Given the description of an element on the screen output the (x, y) to click on. 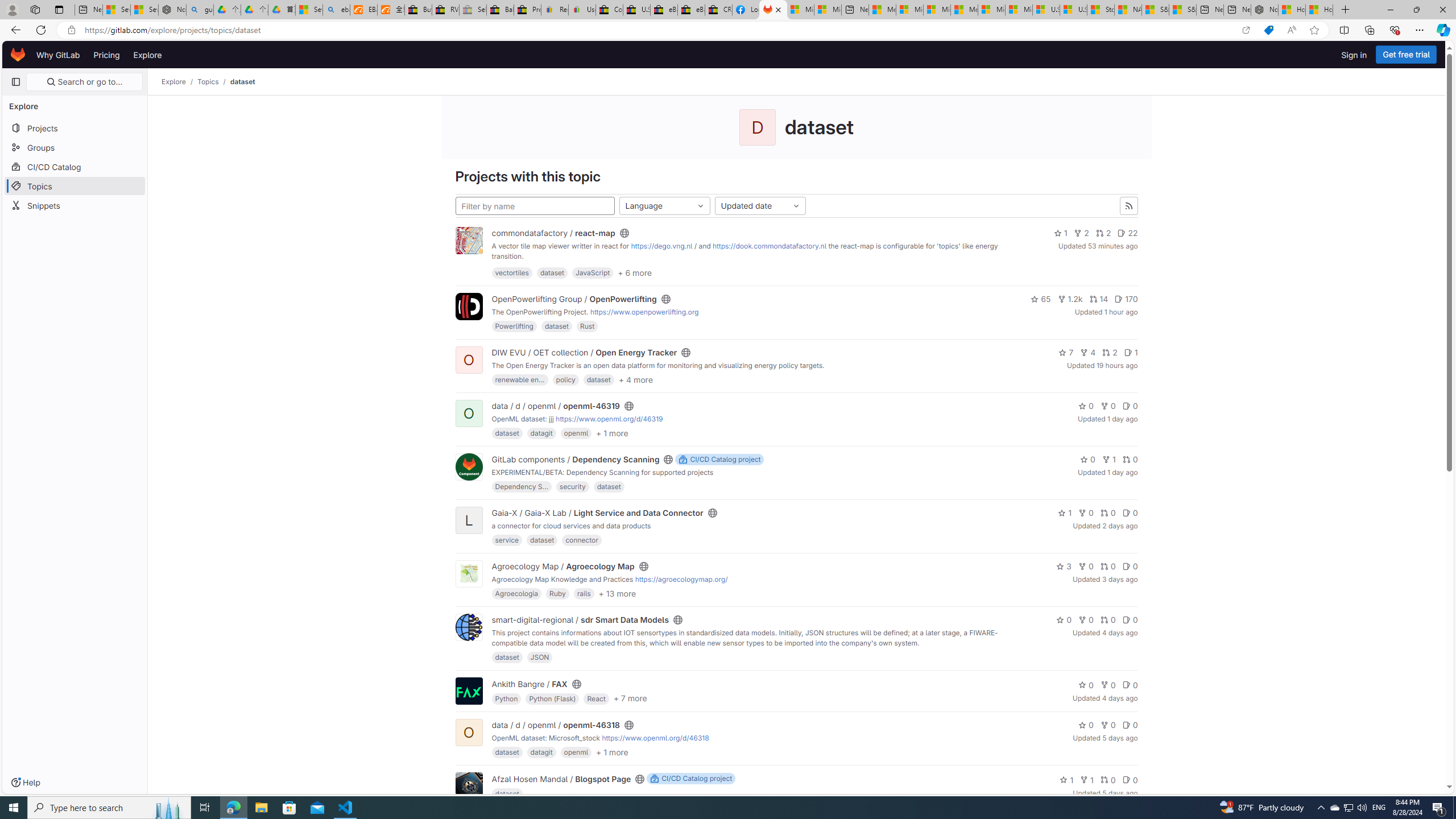
ebay - Search (336, 9)
How to Use a Monitor With Your Closed Laptop (1319, 9)
Why GitLab (58, 54)
Class: s16 (639, 778)
Baby Keepsakes & Announcements for sale | eBay (499, 9)
Explore (146, 54)
Snippets (74, 205)
Ankith Bangre / FAX (529, 683)
Class: s16 gl-icon gl-button-icon  (1129, 206)
Groups (74, 147)
Close tab (778, 9)
170 (1126, 299)
Personal Profile (12, 9)
